Given the description of an element on the screen output the (x, y) to click on. 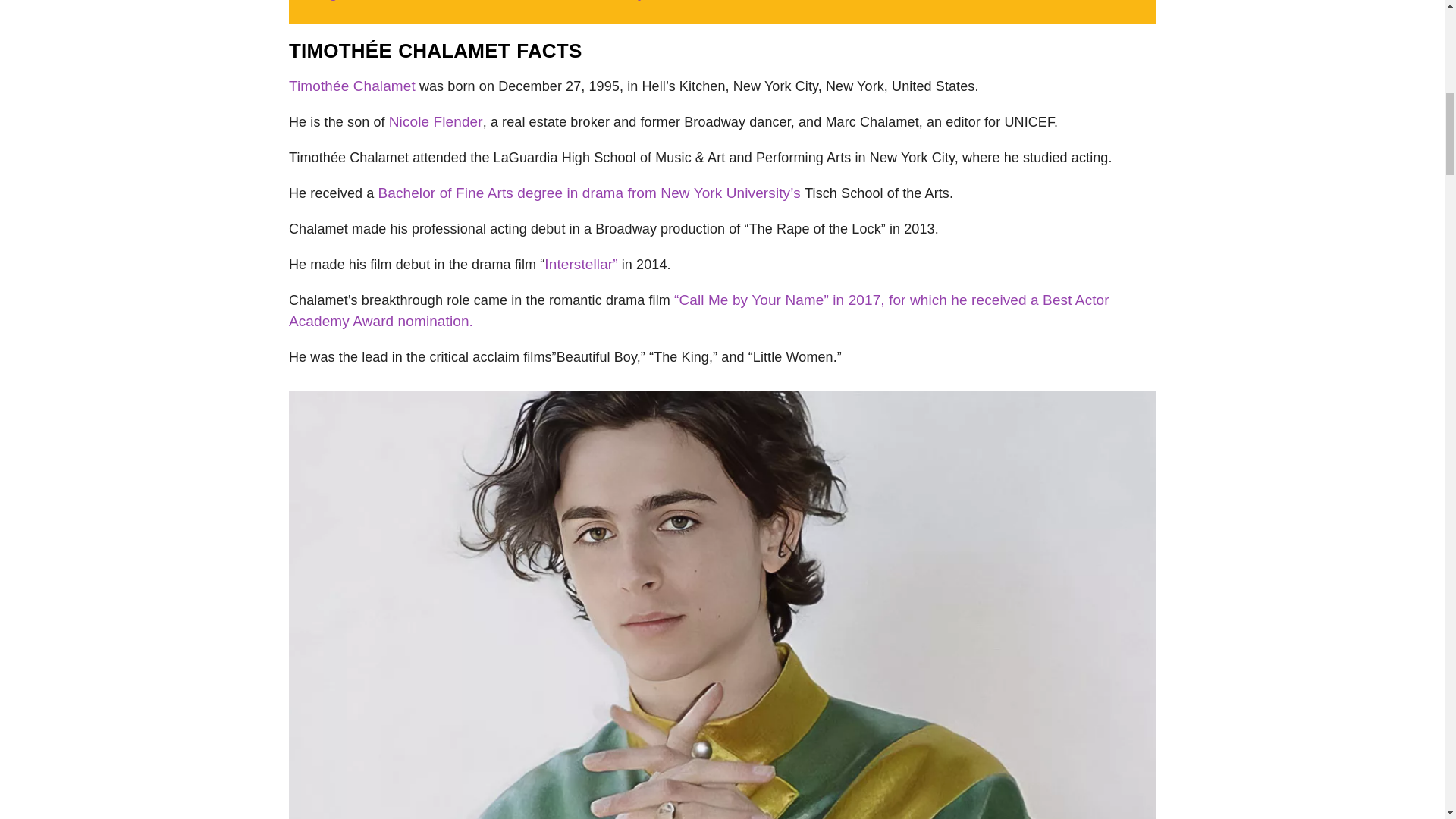
Scroll back to top (1406, 720)
Nicole Flender (435, 121)
